Given the description of an element on the screen output the (x, y) to click on. 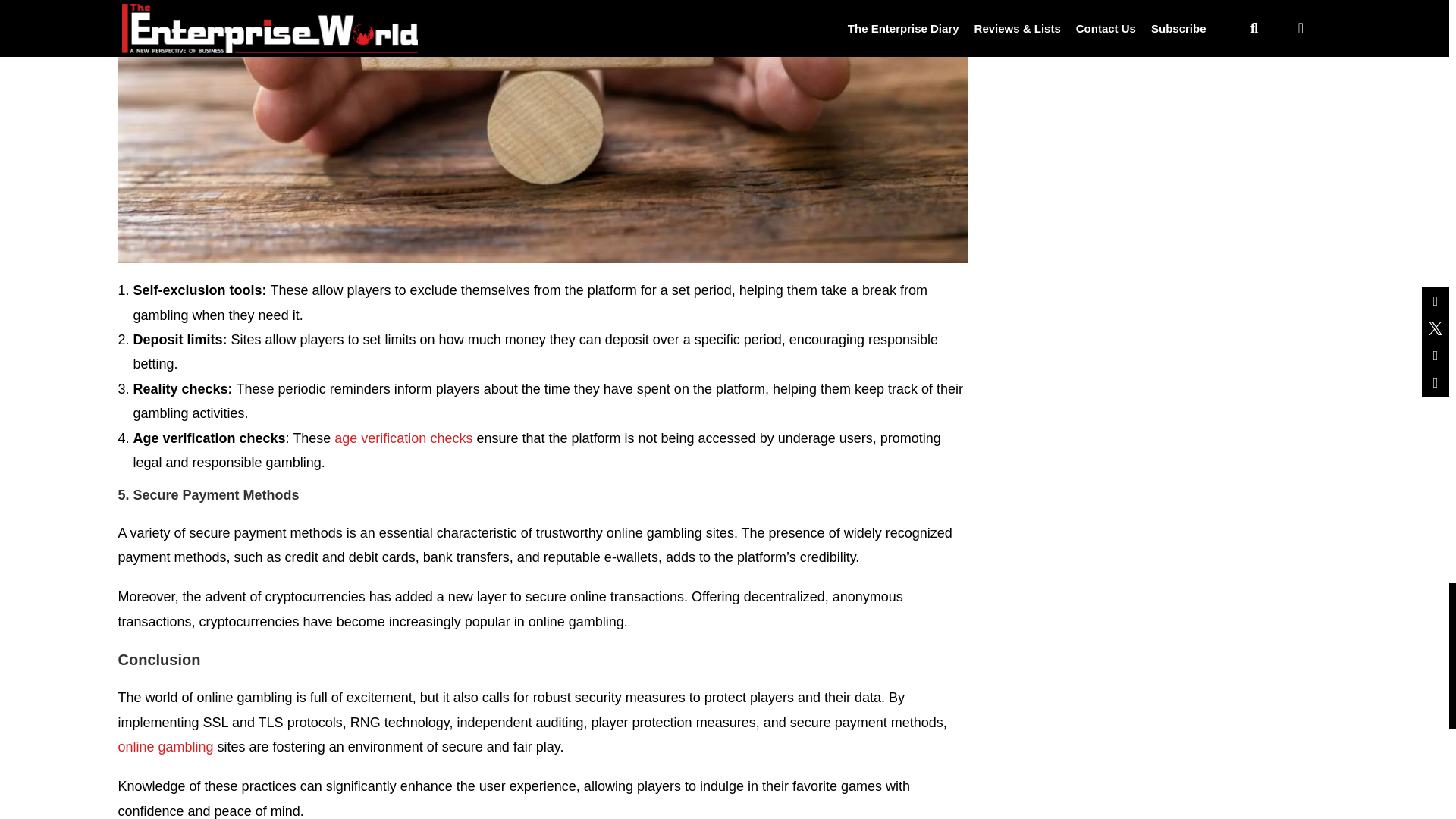
age verification checks (402, 437)
online gambling (165, 746)
